Given the description of an element on the screen output the (x, y) to click on. 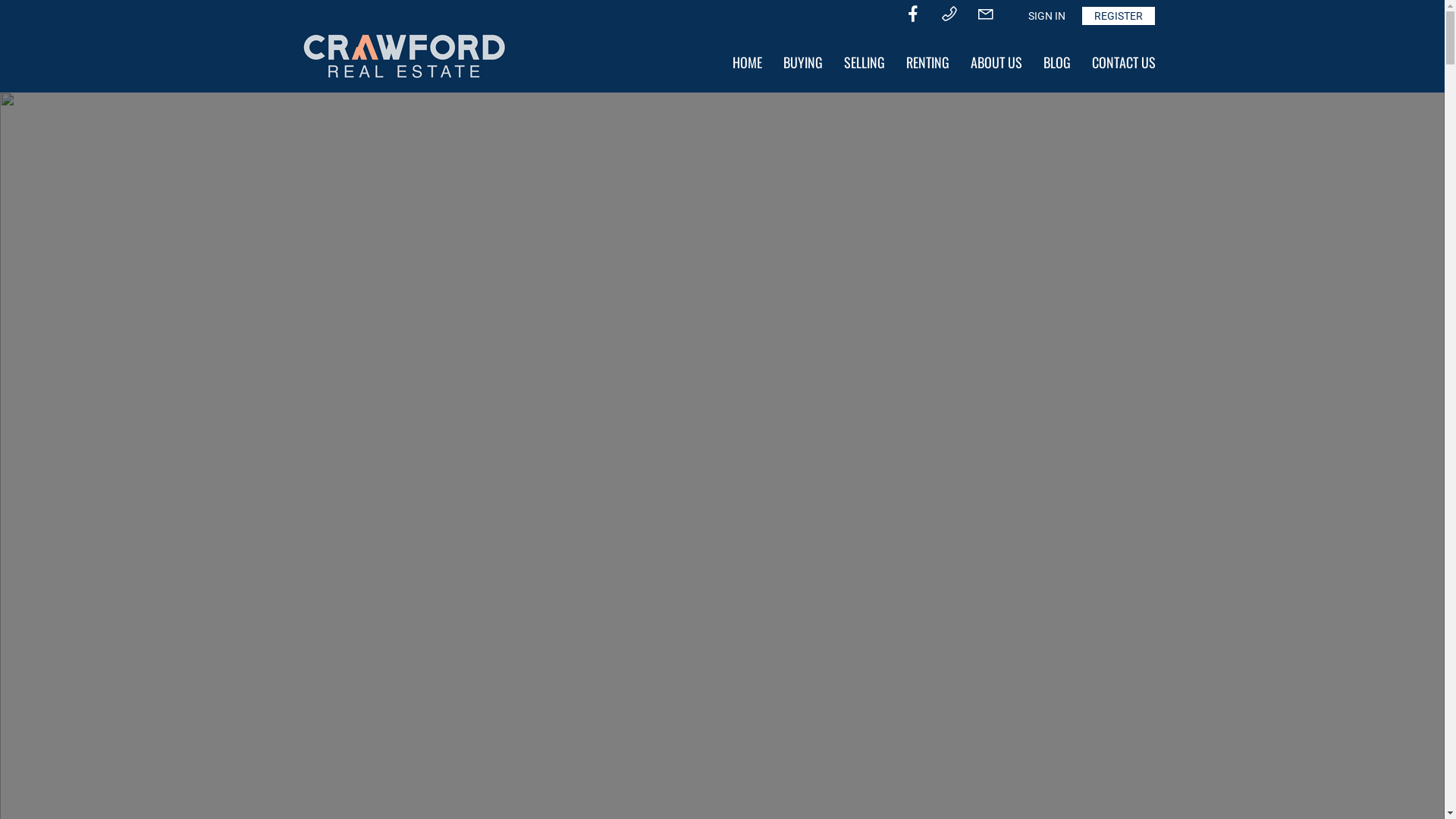
SIGN IN Element type: text (1046, 15)
SELLING Element type: text (863, 61)
CONTACT US Element type: text (1123, 61)
ABOUT US Element type: text (996, 61)
BLOG Element type: text (1056, 61)
RENTING Element type: text (926, 61)
BUYING Element type: text (801, 61)
HOME Element type: text (746, 61)
REGISTER Element type: text (1117, 15)
